Given the description of an element on the screen output the (x, y) to click on. 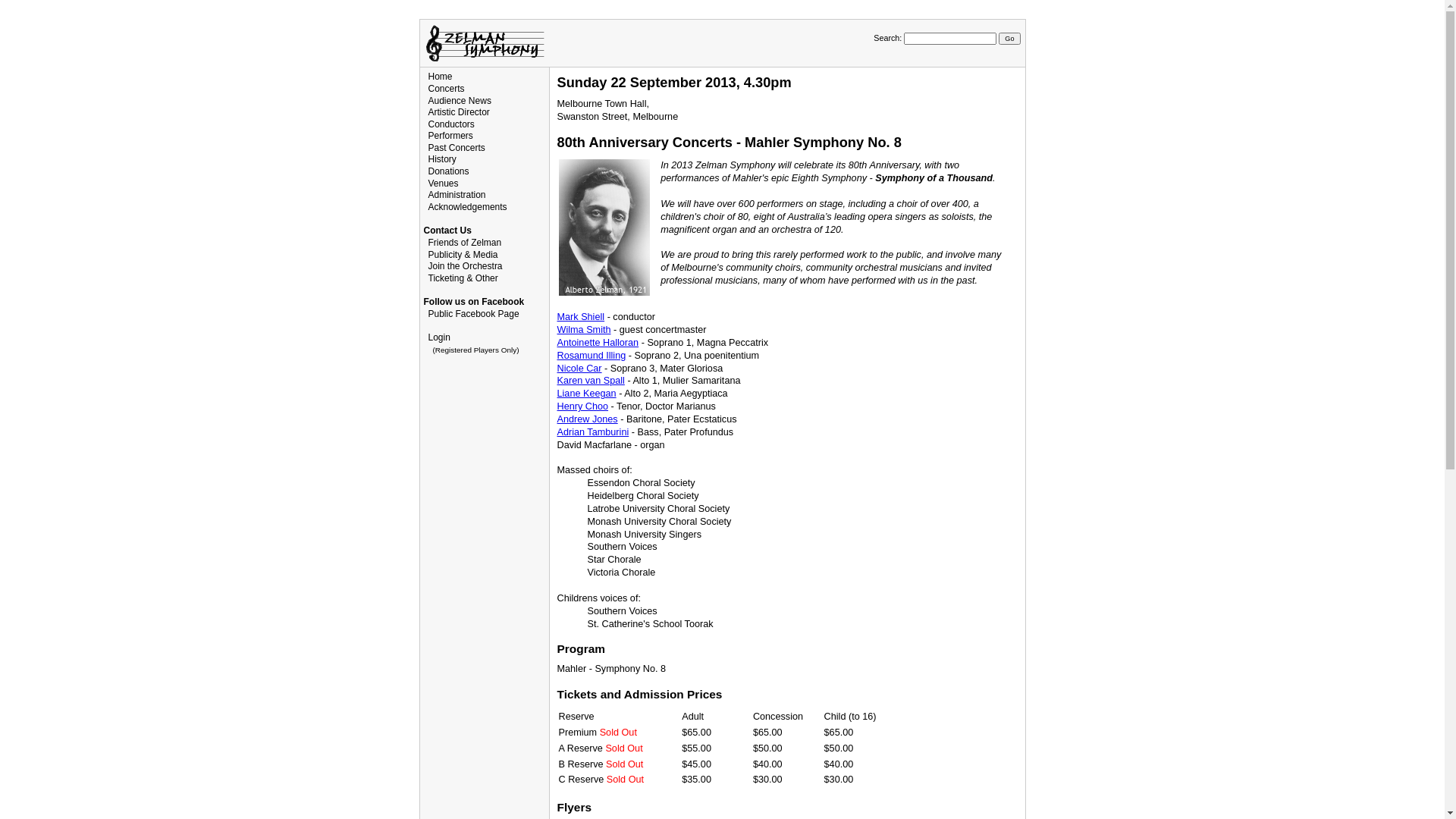
Artistic Director Element type: text (458, 111)
Past Concerts Element type: text (455, 147)
Wilma Smith Element type: text (583, 329)
Ticketing & Other Element type: text (462, 278)
Karen van Spall Element type: text (590, 380)
Rosamund Illing Element type: text (590, 355)
Adrian Tamburini Element type: text (592, 431)
Mark Shiell Element type: text (580, 316)
Concerts Element type: text (445, 88)
Liane Keegan Element type: text (585, 393)
Donations Element type: text (447, 171)
Login Element type: text (438, 337)
Performers Element type: text (449, 135)
Venues Element type: text (442, 183)
Friends of Zelman Element type: text (464, 242)
Publicity & Media Element type: text (462, 254)
Henry Choo Element type: text (582, 406)
Go Element type: text (1008, 38)
History Element type: text (441, 158)
Andrew Jones Element type: text (586, 419)
Nicole Car Element type: text (578, 368)
Contact Us Element type: text (446, 230)
Audience News Element type: text (458, 100)
Antoinette Halloran Element type: text (597, 342)
Join the Orchestra Element type: text (464, 265)
Public Facebook Page Element type: text (472, 313)
Conductors Element type: text (450, 124)
Administration Element type: text (456, 194)
Home Element type: text (439, 76)
Acknowledgements Element type: text (466, 206)
